Given the description of an element on the screen output the (x, y) to click on. 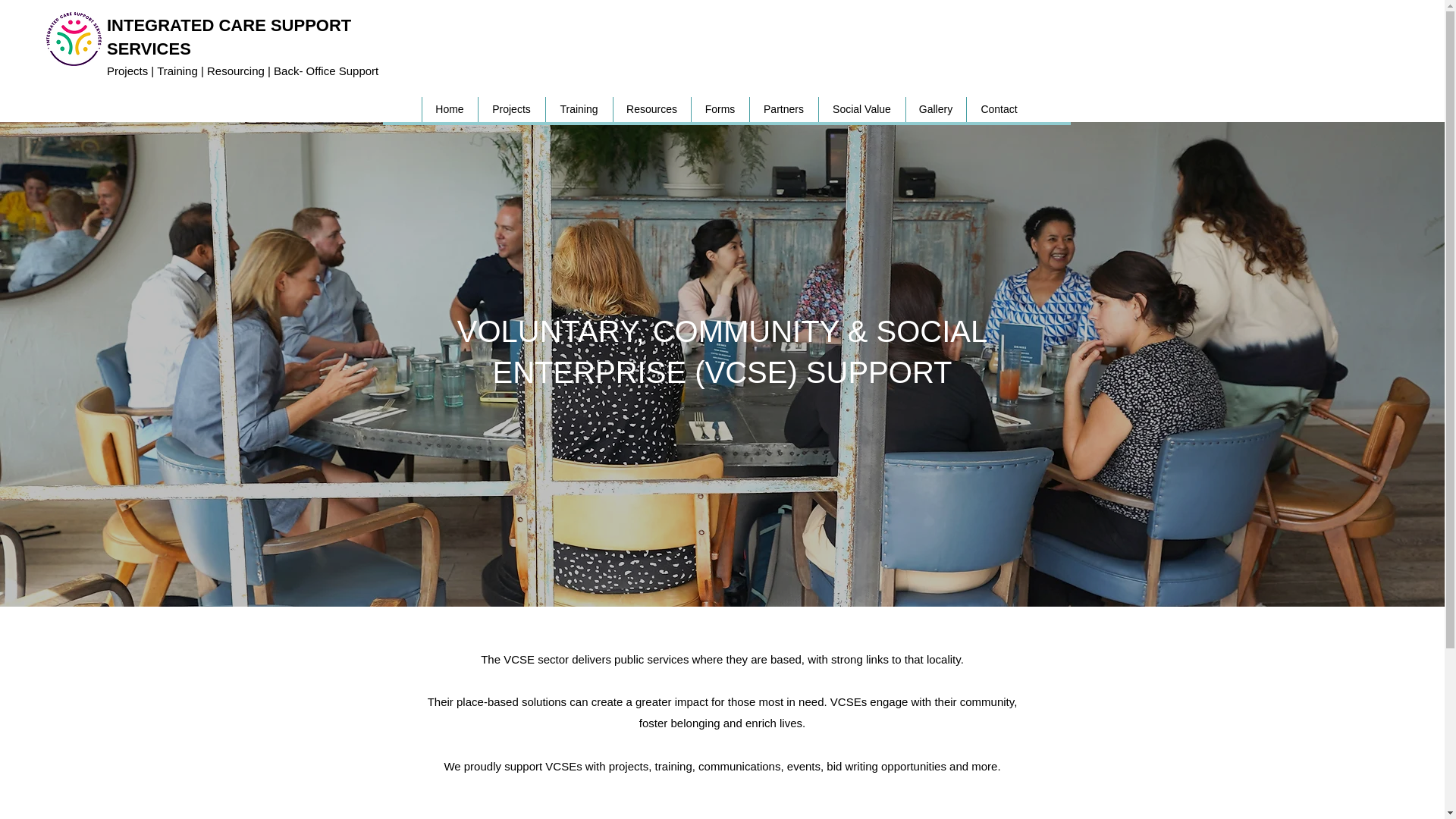
Social Value (860, 109)
Gallery (935, 109)
Training (577, 109)
Home (449, 109)
INTEGRATED CARE SUPPORT SERVICES (228, 36)
Contact (999, 109)
Forms (719, 109)
Partners (783, 109)
Resources (651, 109)
Projects (510, 109)
